Given the description of an element on the screen output the (x, y) to click on. 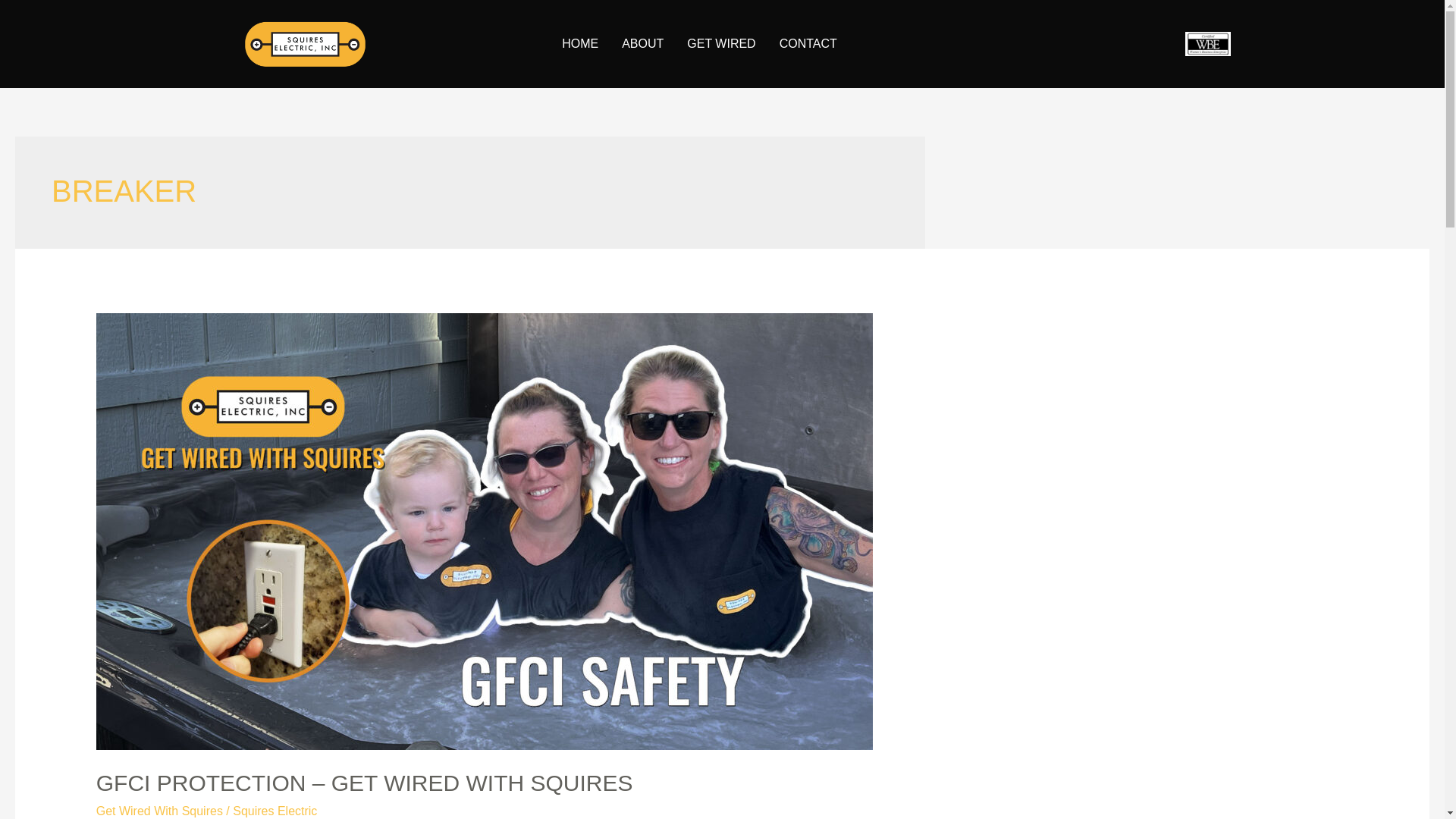
Squires Electric (274, 810)
View all posts by Squires Electric (274, 810)
Get Wired With Squires (159, 810)
GET WIRED (721, 43)
ABOUT (642, 43)
CONTACT (808, 43)
HOME (580, 43)
